Given the description of an element on the screen output the (x, y) to click on. 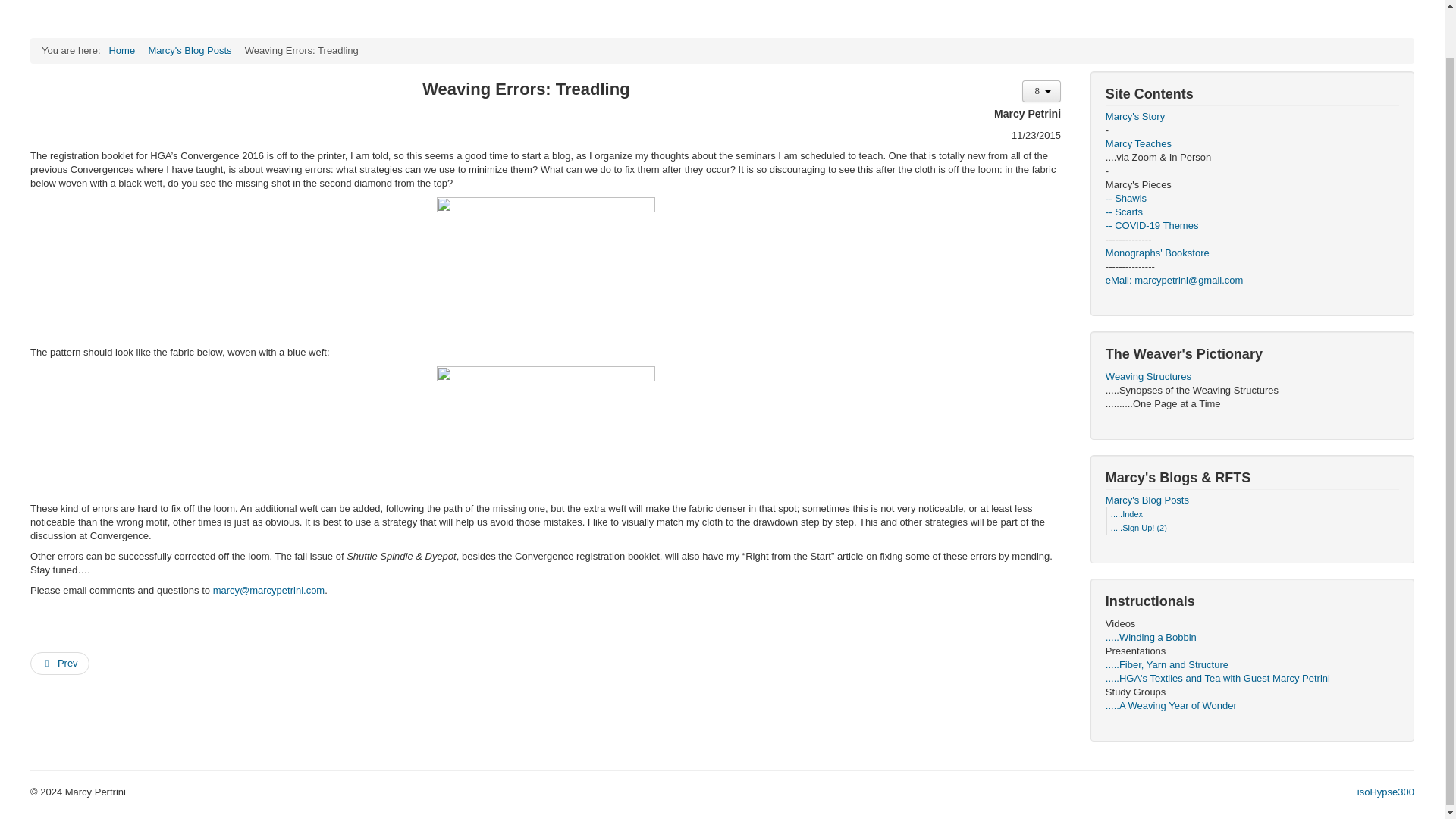
.....A Weaving Year of Wonder (1252, 705)
Marcy's Blog Posts (189, 50)
isoHypse300 (1384, 791)
.....HGA's Textiles and Tea with Guest Marcy Petrini (1252, 678)
Marcy's Blog Posts (1252, 499)
Home (121, 50)
.....Fiber, Yarn and Structure (1252, 664)
Marcy Teaches (1252, 143)
Marcy's Story (1252, 116)
Monographs' Bookstore (1252, 253)
